Given the description of an element on the screen output the (x, y) to click on. 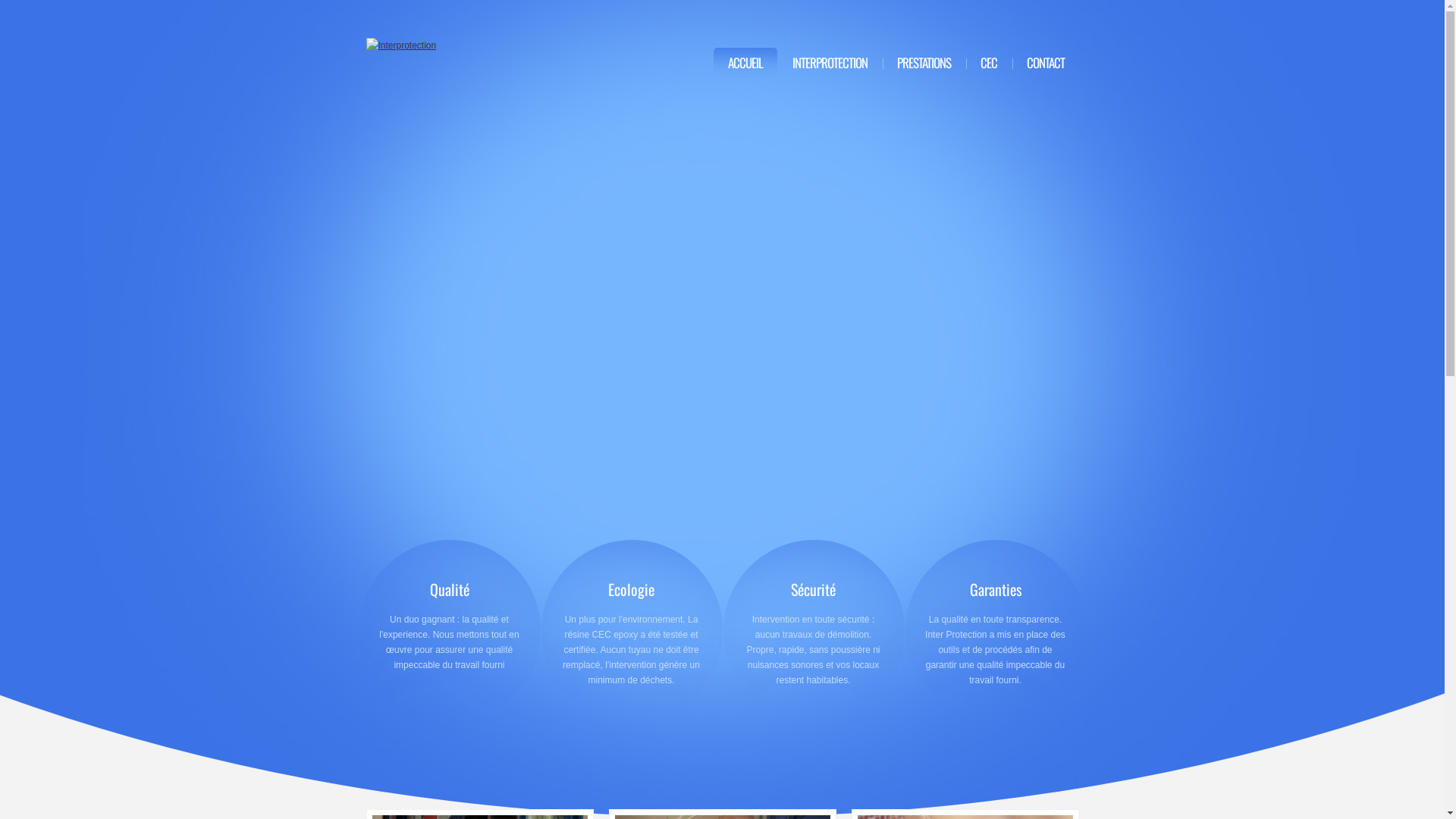
PRESTATIONS Element type: text (923, 62)
INTERPROTECTION Element type: text (829, 62)
CEC Element type: text (988, 62)
ACCUEIL Element type: text (744, 62)
CONTACT Element type: text (1044, 62)
